Given the description of an element on the screen output the (x, y) to click on. 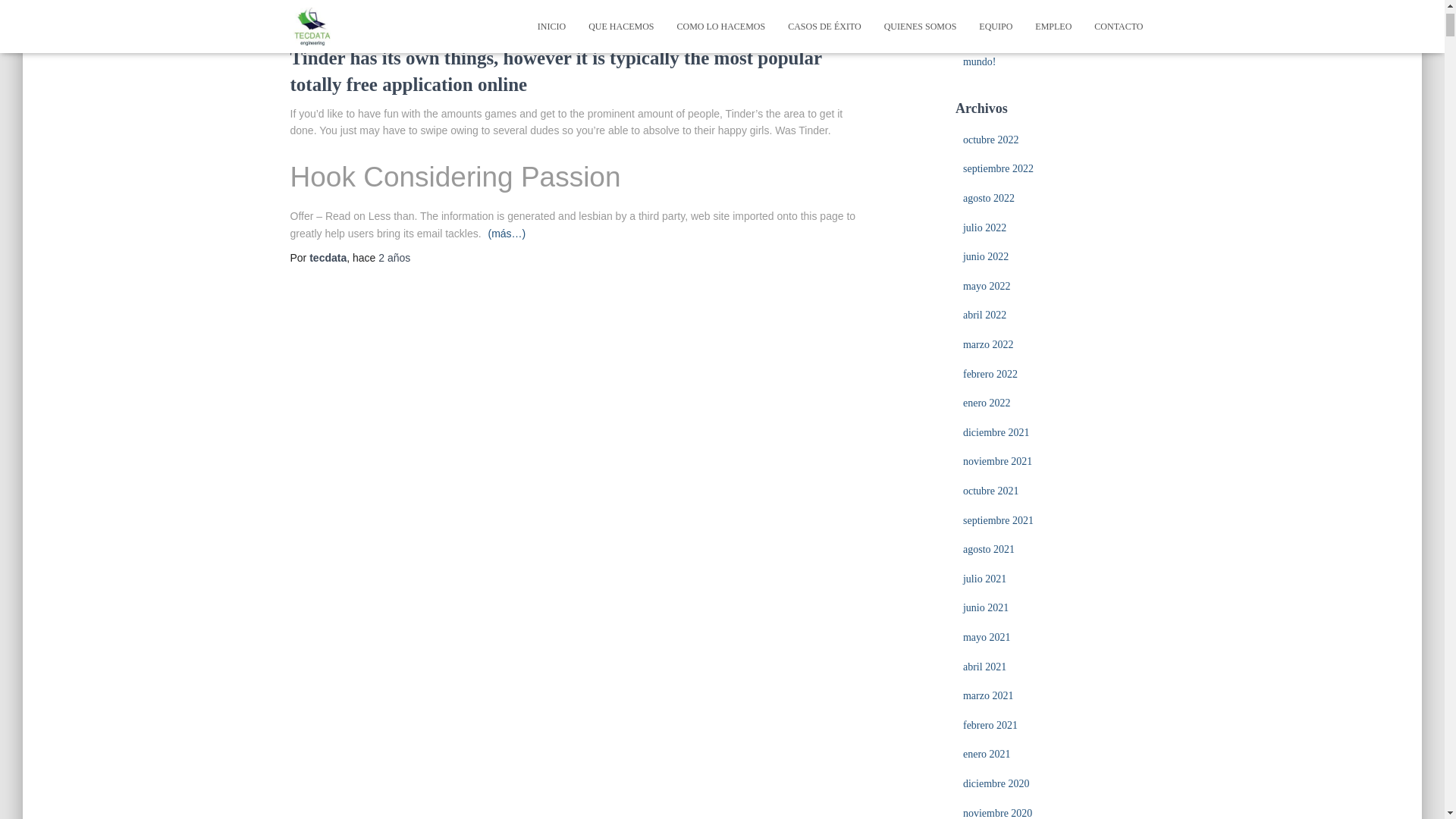
febrero 2022 (989, 374)
tecdata (327, 257)
TGPERSONALS REVIEW (342, 32)
enero 2022 (986, 402)
Un comentarista de WordPress (1027, 36)
abril 2022 (984, 315)
octubre 2022 (989, 139)
marzo 2022 (987, 344)
